Given the description of an element on the screen output the (x, y) to click on. 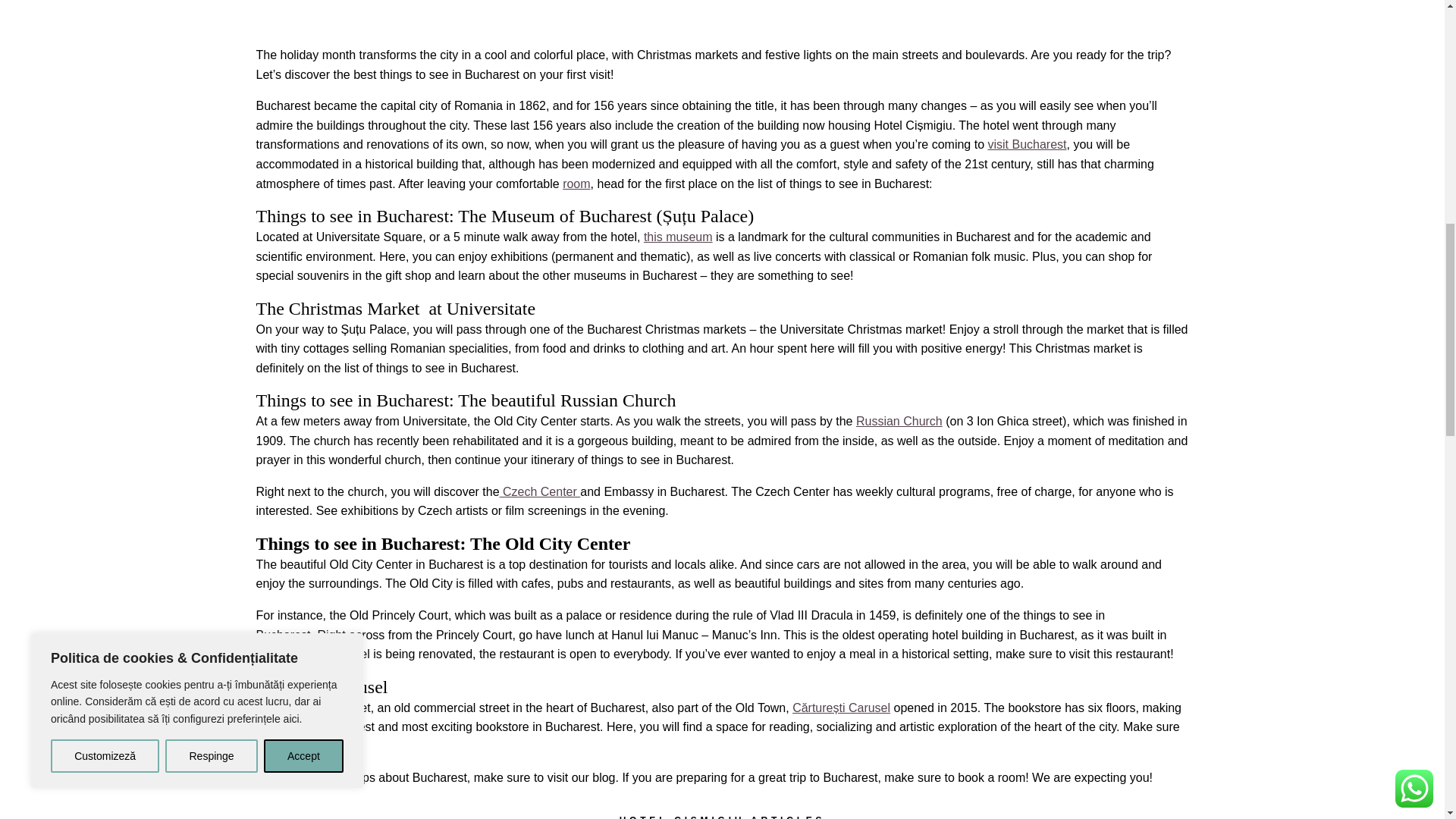
room (575, 183)
visit Bucharest (1026, 144)
